Given the description of an element on the screen output the (x, y) to click on. 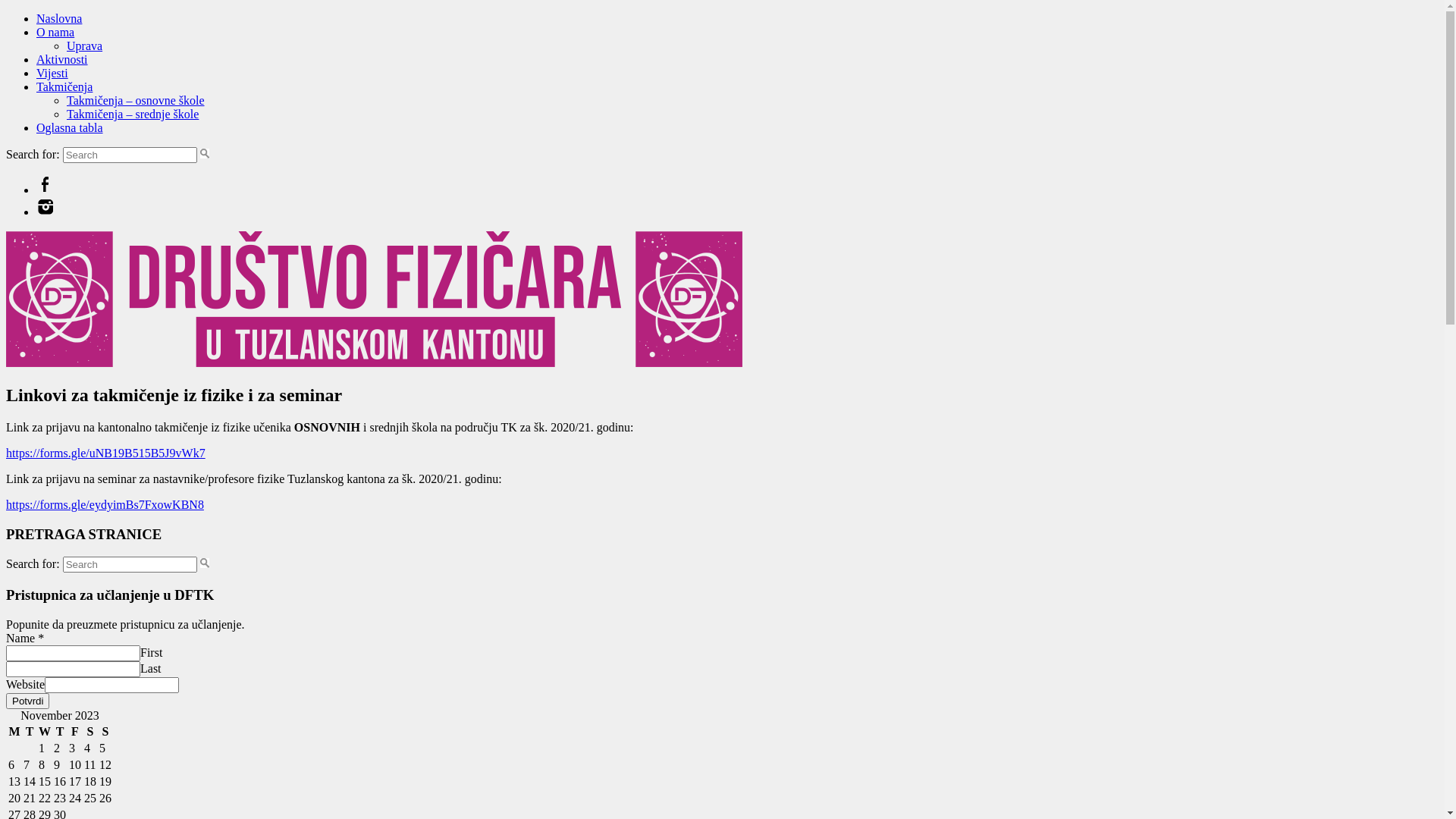
https://forms.gle/eydyimBs7FxowKBN8 Element type: text (104, 504)
Potvrdi Element type: text (27, 701)
Aktivnosti Element type: text (61, 59)
https://forms.gle/uNB19B515B5J9vWk7 Element type: text (105, 452)
Vijesti Element type: text (52, 72)
O nama Element type: text (55, 31)
Naslovna Element type: text (58, 18)
Uprava Element type: text (84, 45)
Oglasna tabla Element type: text (69, 127)
